Given the description of an element on the screen output the (x, y) to click on. 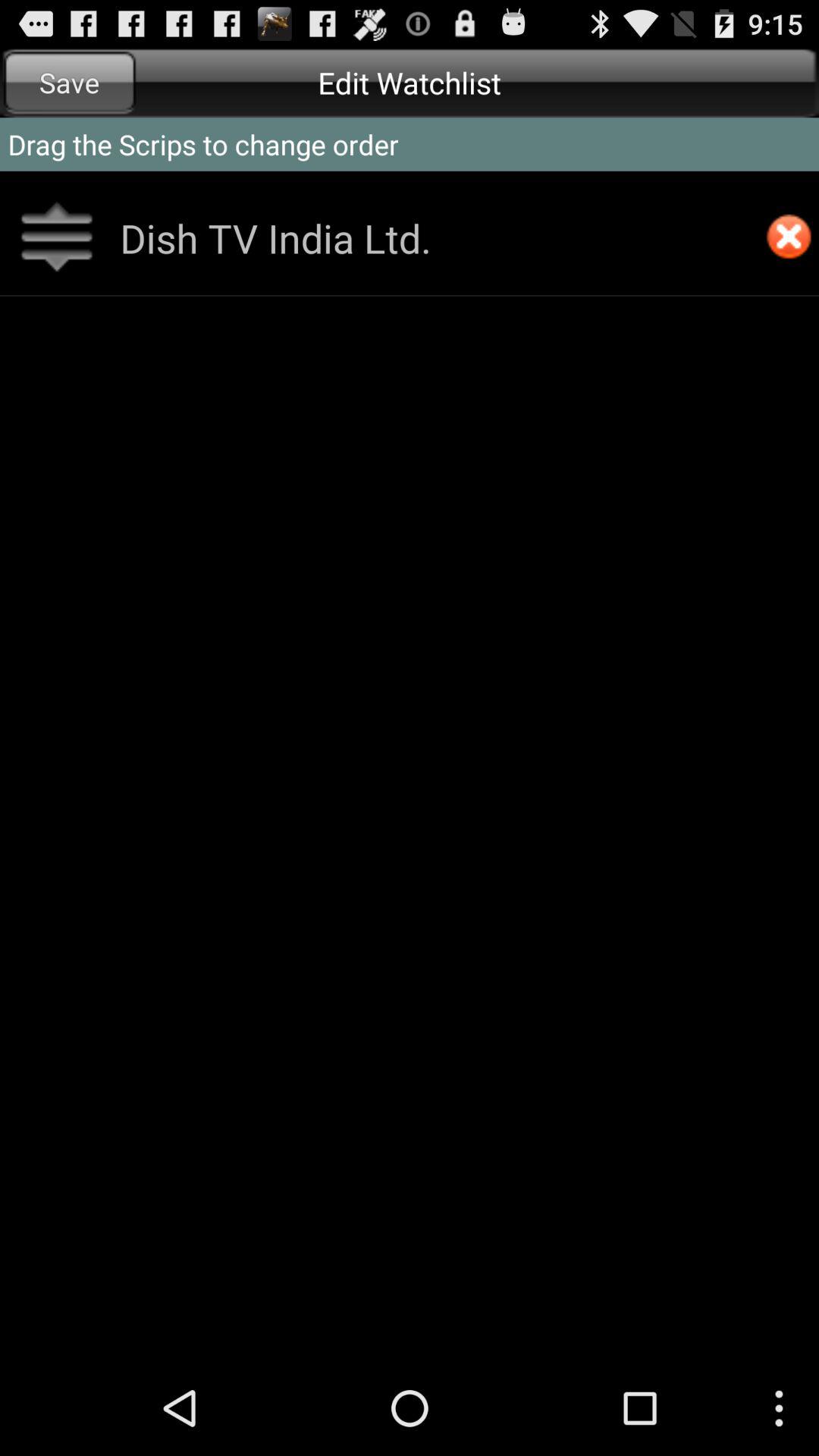
turn on the item next to edit watchlist icon (69, 82)
